Given the description of an element on the screen output the (x, y) to click on. 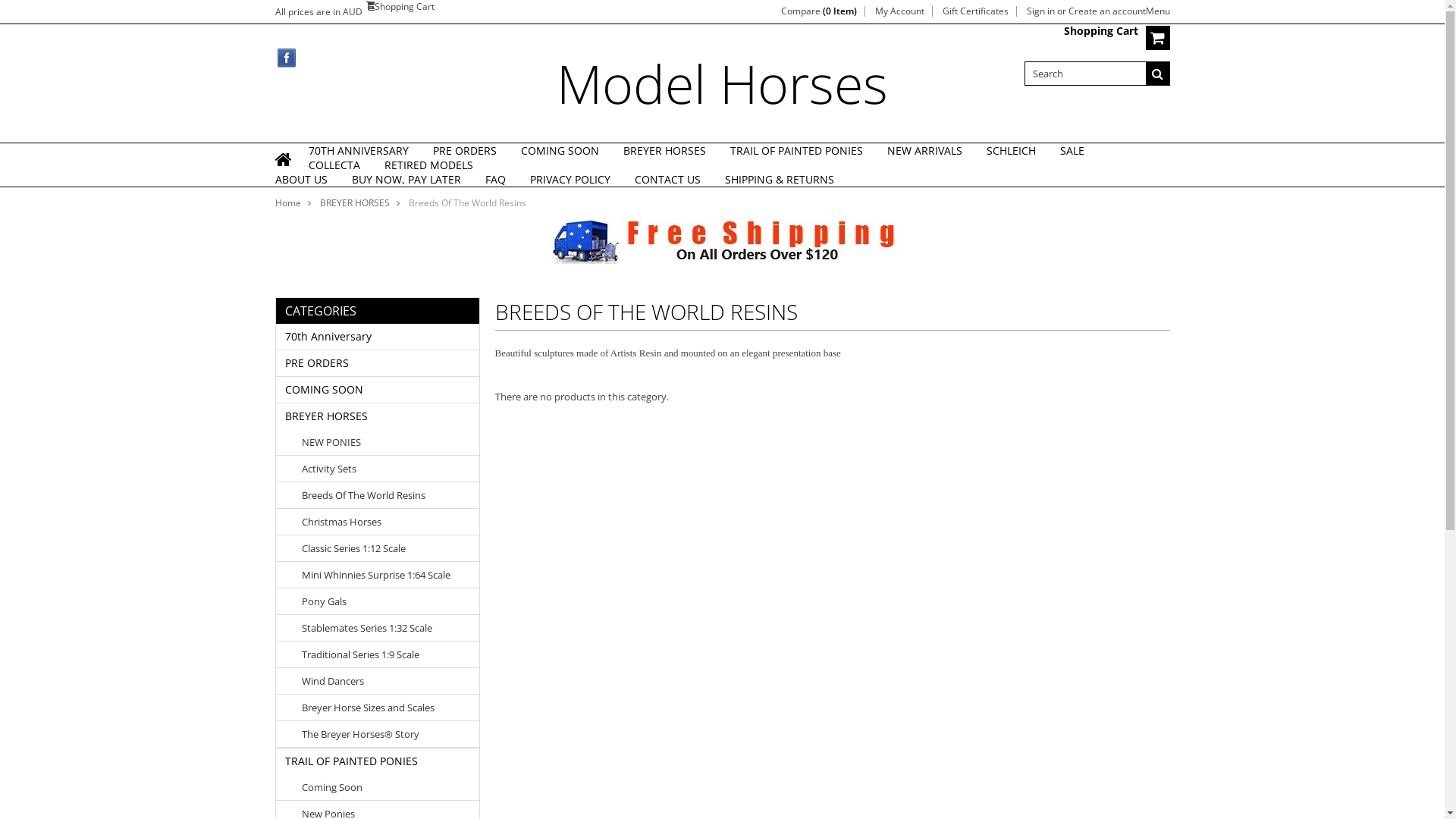
Home Element type: text (292, 202)
TRAIL OF PAINTED PONIES Element type: text (377, 761)
Coming Soon Element type: text (381, 787)
Model Horses Element type: text (722, 83)
PRE ORDERS Element type: text (463, 150)
NEW PONIES Element type: text (381, 442)
Activity Sets Element type: text (381, 468)
RETIRED MODELS Element type: text (427, 164)
Classic Series 1:12 Scale Element type: text (381, 548)
ABOUT US Element type: text (300, 179)
View Cart Element type: hover (368, 5)
BUY NOW, PAY LATER Element type: text (406, 179)
free-shipping120.jpg Element type: hover (721, 240)
Gift Certificates Element type: text (974, 11)
All prices are in AUD Element type: text (317, 11)
TRAIL OF PAINTED PONIES Element type: text (795, 150)
Traditional Series 1:9 Scale Element type: text (381, 654)
Wind Dancers Element type: text (381, 680)
BREYER HORSES Element type: text (377, 416)
COMING SOON Element type: text (559, 150)
Home Element type: hover (283, 169)
70th Anniversary Element type: text (377, 336)
SALE Element type: text (1072, 150)
BREYER HORSES Element type: text (359, 202)
  Element type: text (283, 169)
Pony Gals Element type: text (381, 601)
Mini Whinnies Surprise 1:64 Scale Element type: text (381, 574)
PRE ORDERS Element type: text (377, 363)
PRIVACY POLICY Element type: text (569, 179)
Search Element type: hover (1157, 73)
Create an account Element type: text (1106, 11)
Facebook Element type: hover (286, 57)
COLLECTA Element type: text (333, 164)
CONTACT US Element type: text (666, 179)
Breyer Horse Sizes and Scales Element type: text (381, 707)
Menu Element type: text (1157, 10)
BREYER HORSES Element type: text (664, 150)
View Cart Element type: hover (1157, 37)
SHIPPING & RETURNS Element type: text (779, 179)
FAQ Element type: text (495, 179)
SCHLEICH Element type: text (1010, 150)
Breeds Of The World Resins Element type: text (381, 495)
My Account Element type: text (899, 11)
70TH ANNIVERSARY Element type: text (357, 150)
Shopping Cart Element type: text (404, 6)
Sign in Element type: text (1040, 11)
Christmas Horses Element type: text (381, 521)
NEW ARRIVALS Element type: text (924, 150)
COMING SOON Element type: text (377, 389)
Compare (0 Item) Element type: text (818, 11)
Stablemates Series 1:32 Scale Element type: text (381, 627)
